Given the description of an element on the screen output the (x, y) to click on. 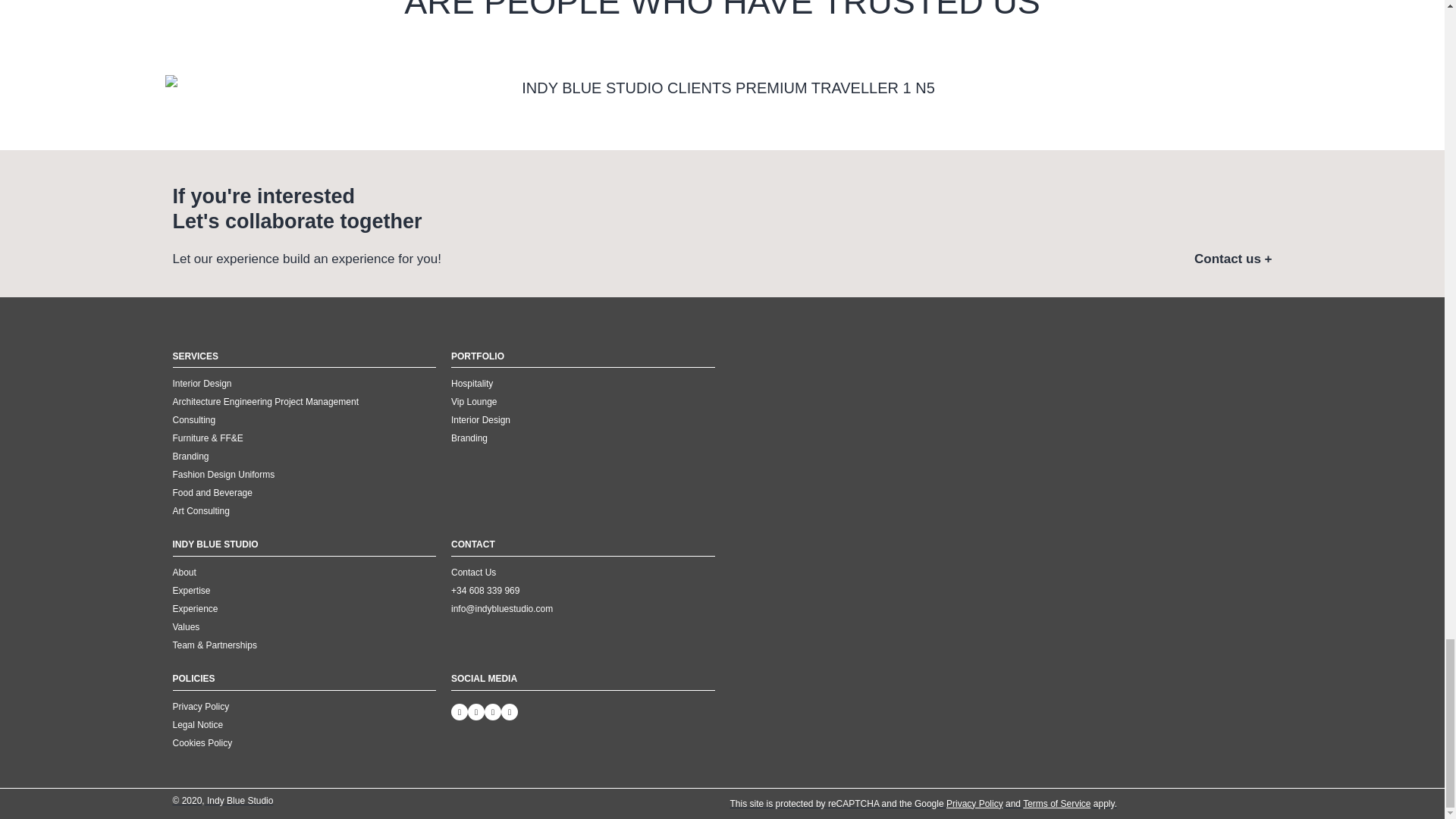
Interior Design (304, 383)
